Given the description of an element on the screen output the (x, y) to click on. 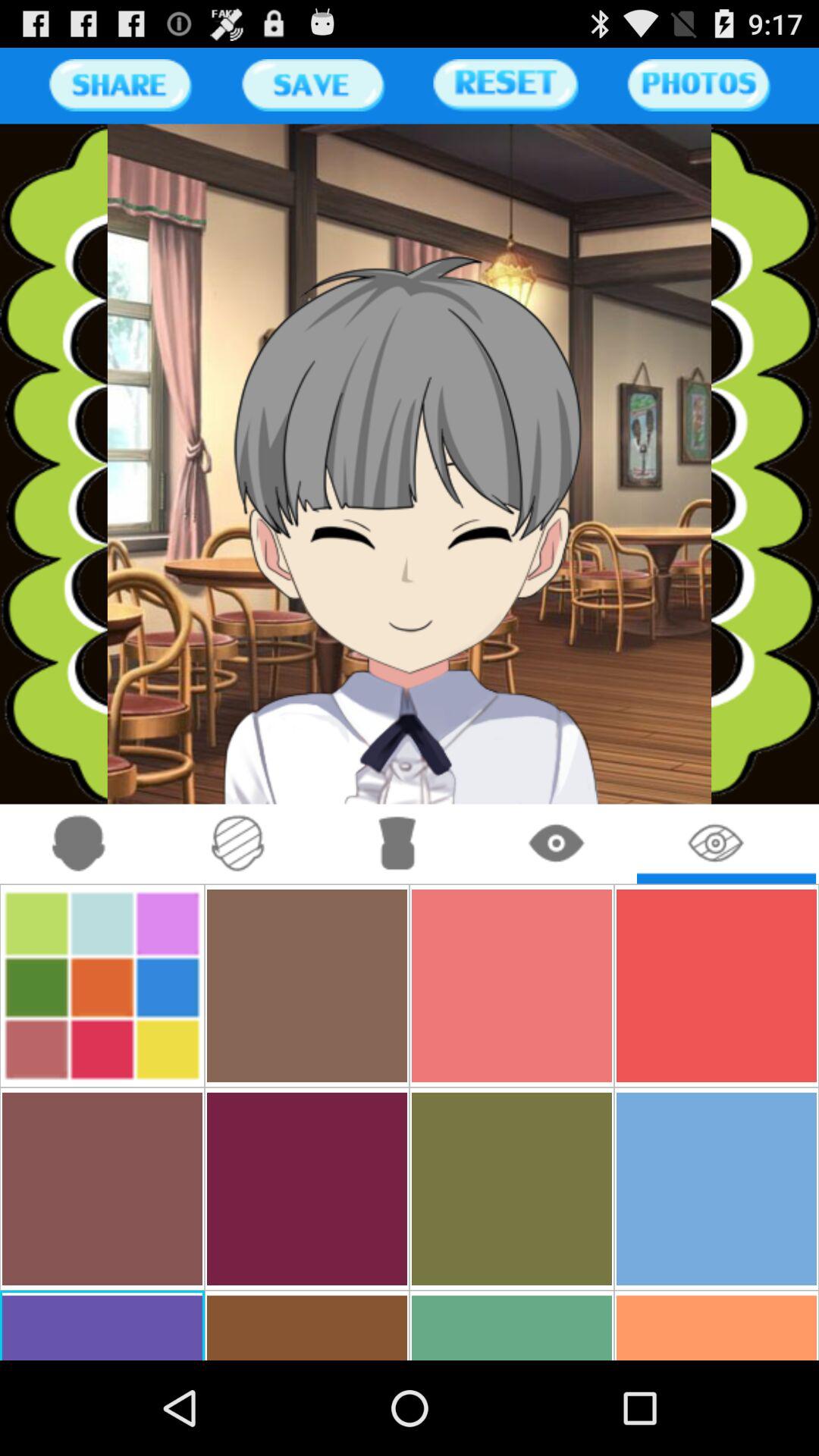
select eye (557, 843)
